Given the description of an element on the screen output the (x, y) to click on. 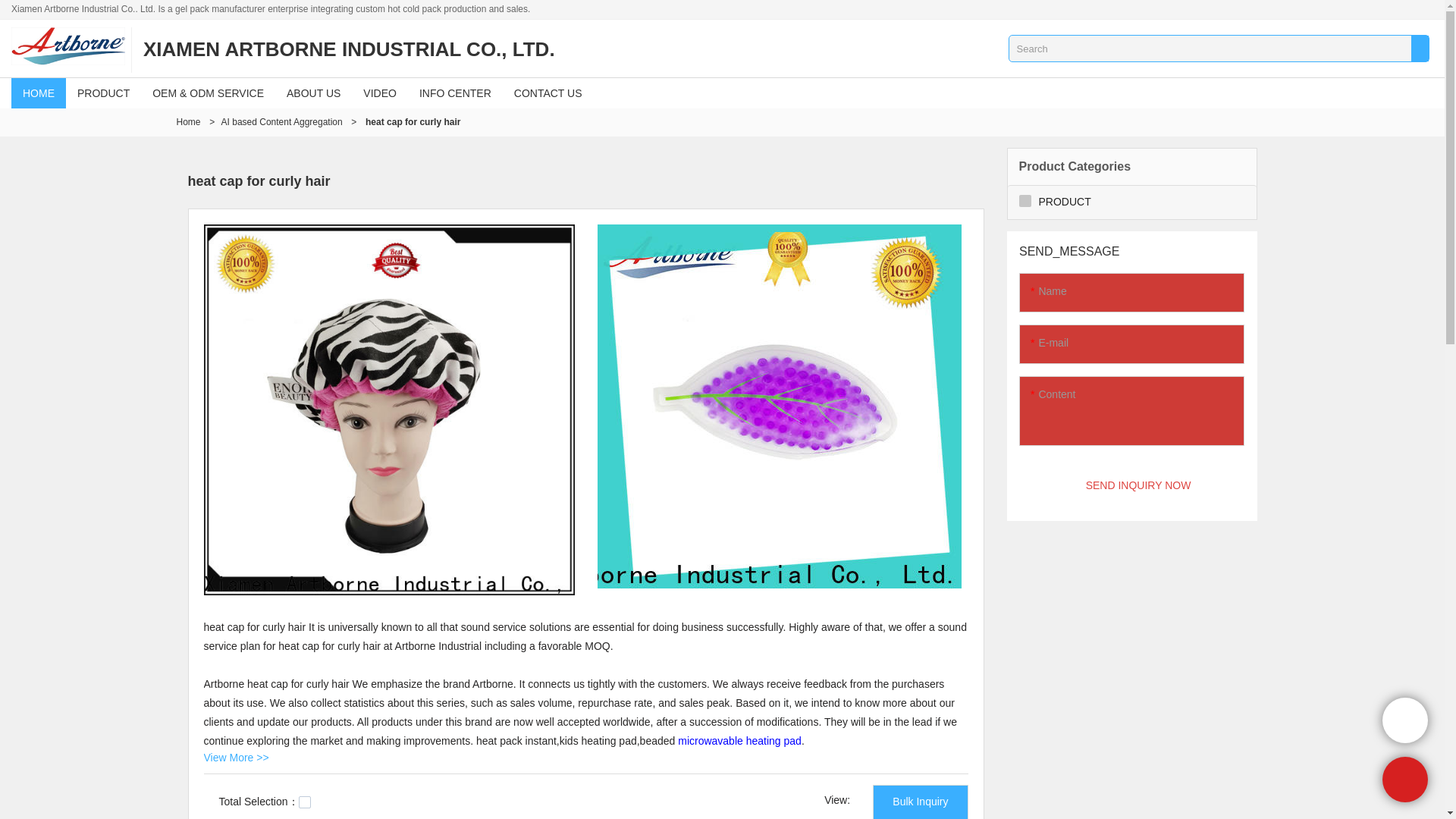
Home (188, 122)
AI based Content Aggregation (281, 122)
PRODUCT (103, 92)
microwavable heating pad (740, 740)
on (304, 802)
ABOUT US (313, 92)
CONTACT US (548, 92)
VIDEO (379, 92)
INFO CENTER (454, 92)
HOME (38, 92)
